Given the description of an element on the screen output the (x, y) to click on. 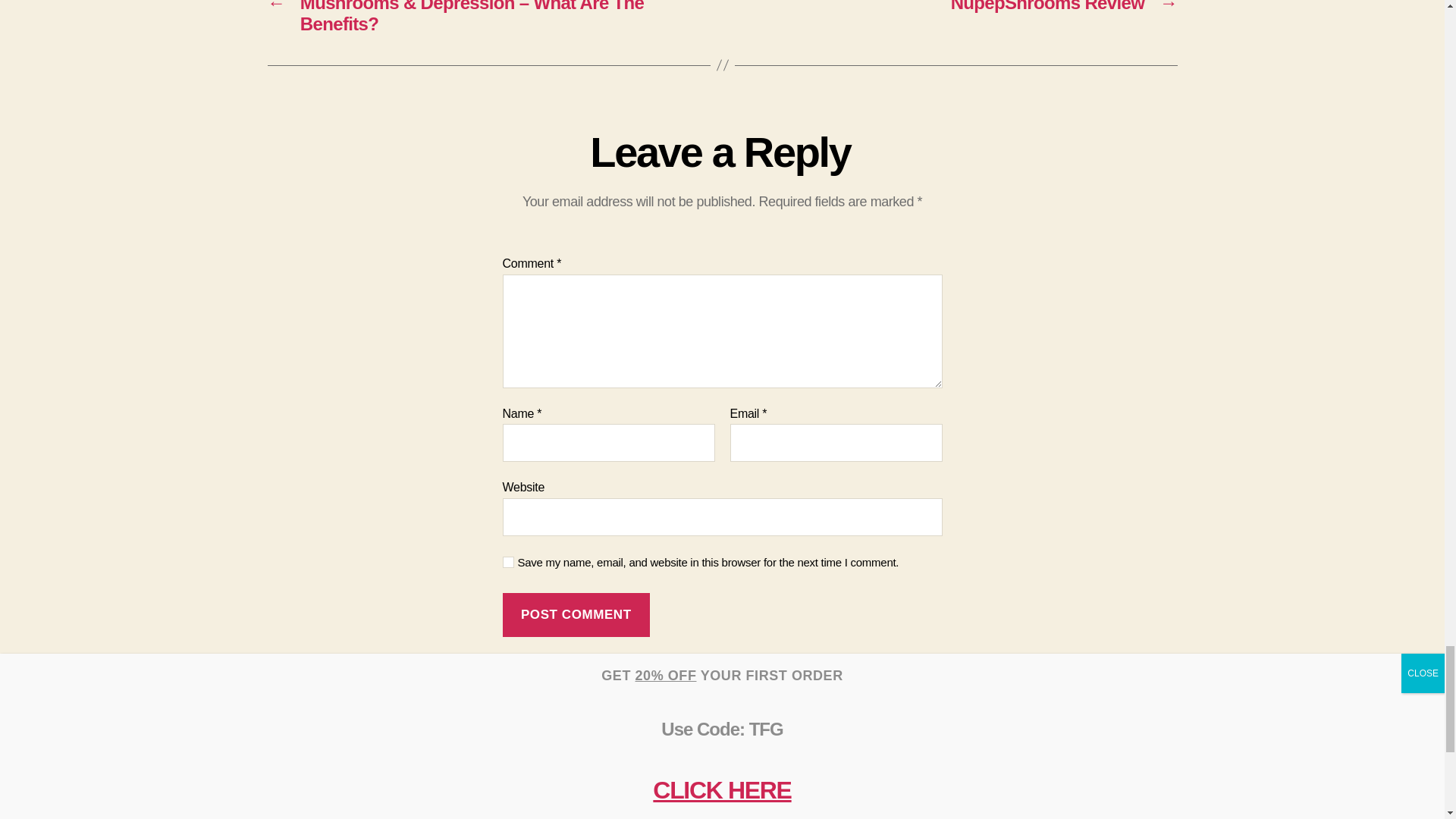
Search (651, 798)
Post Comment (575, 615)
yes (507, 562)
Search (651, 798)
Search (651, 798)
Post Comment (575, 615)
